Given the description of an element on the screen output the (x, y) to click on. 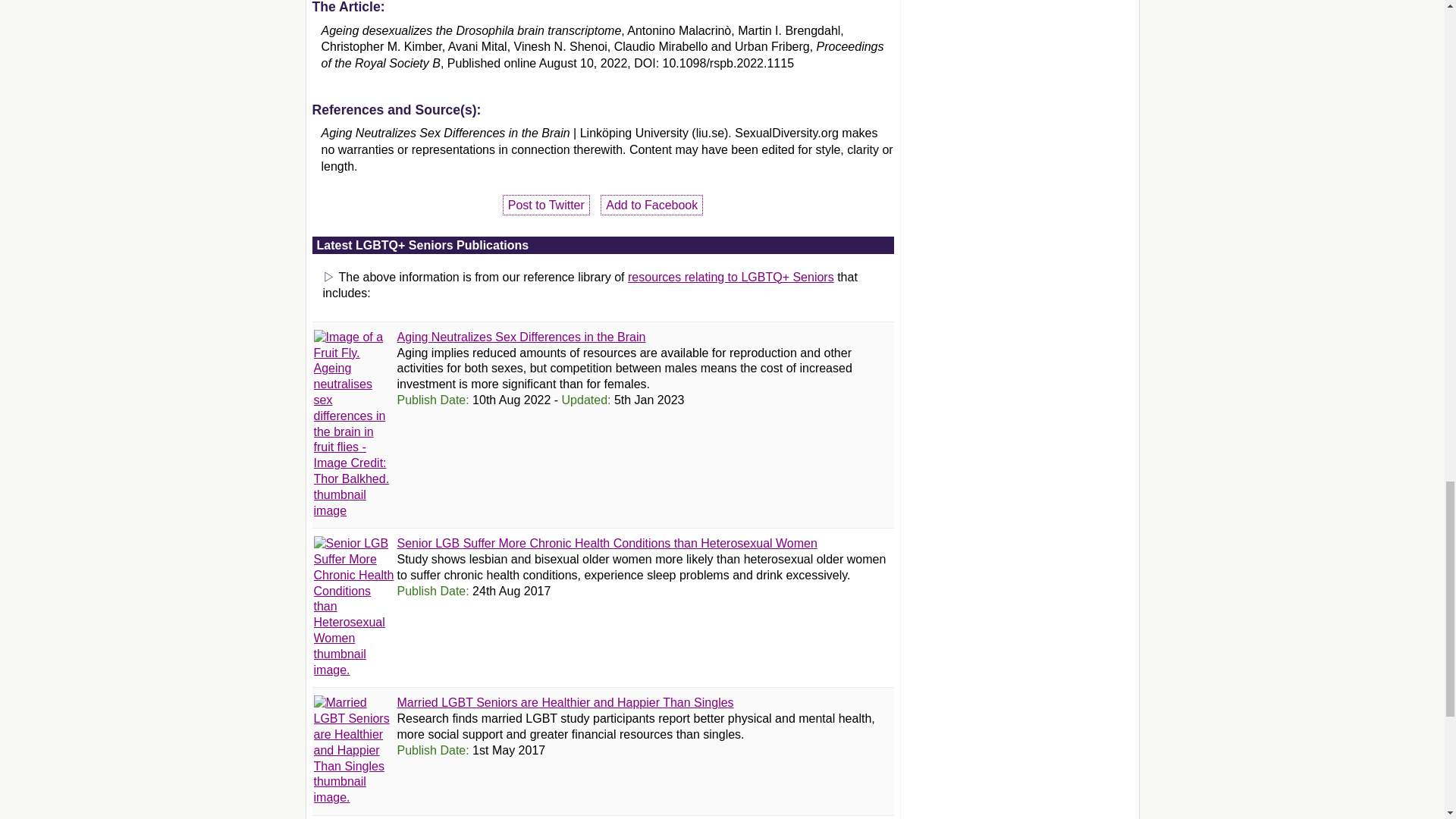
Add to Facebook (651, 204)
Post to Twitter (545, 204)
Aging Neutralizes Sex Differences in the Brain (521, 336)
Married LGBT Seniors are Healthier and Happier Than Singles (565, 702)
